Given the description of an element on the screen output the (x, y) to click on. 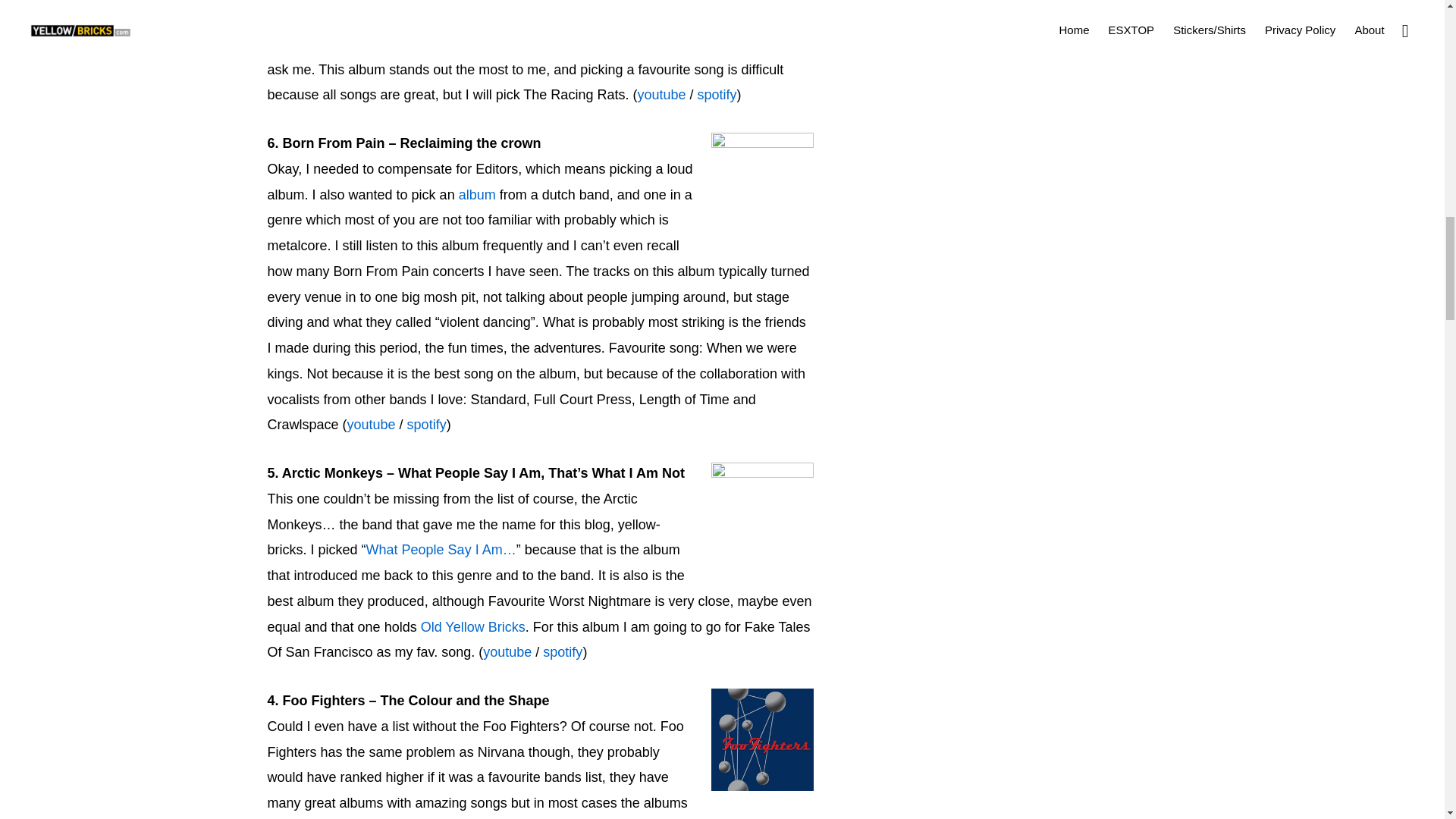
spotify (426, 424)
spotify (562, 652)
Old Yellow Bricks (472, 626)
spotify (716, 94)
youtube (371, 424)
youtube (507, 652)
youtube (661, 94)
album (477, 194)
